Given the description of an element on the screen output the (x, y) to click on. 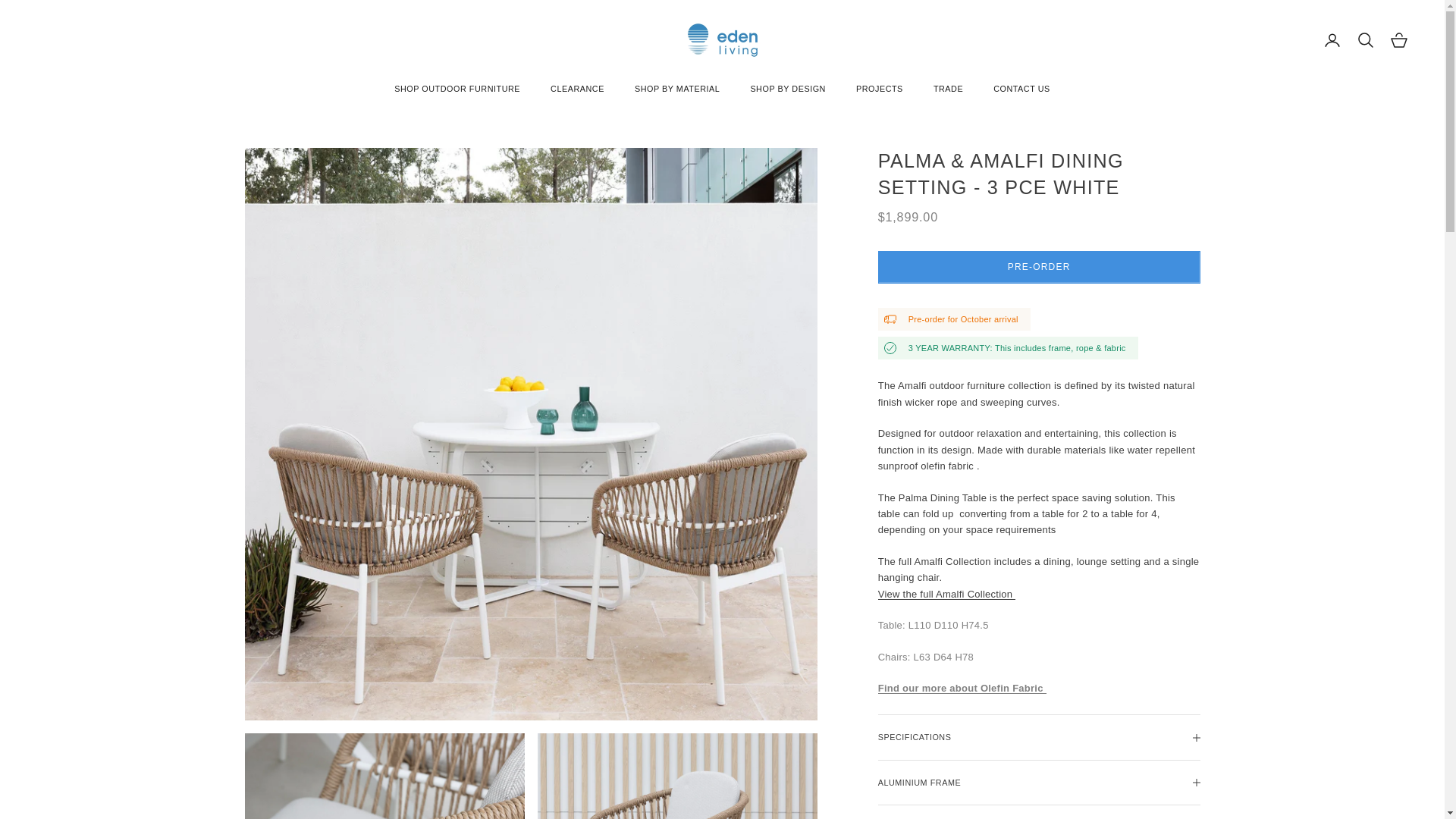
Amalfi Collection (946, 593)
Olefin Outdoor Fabric (961, 687)
CLEARANCE (577, 88)
Eden Living (721, 40)
